Given the description of an element on the screen output the (x, y) to click on. 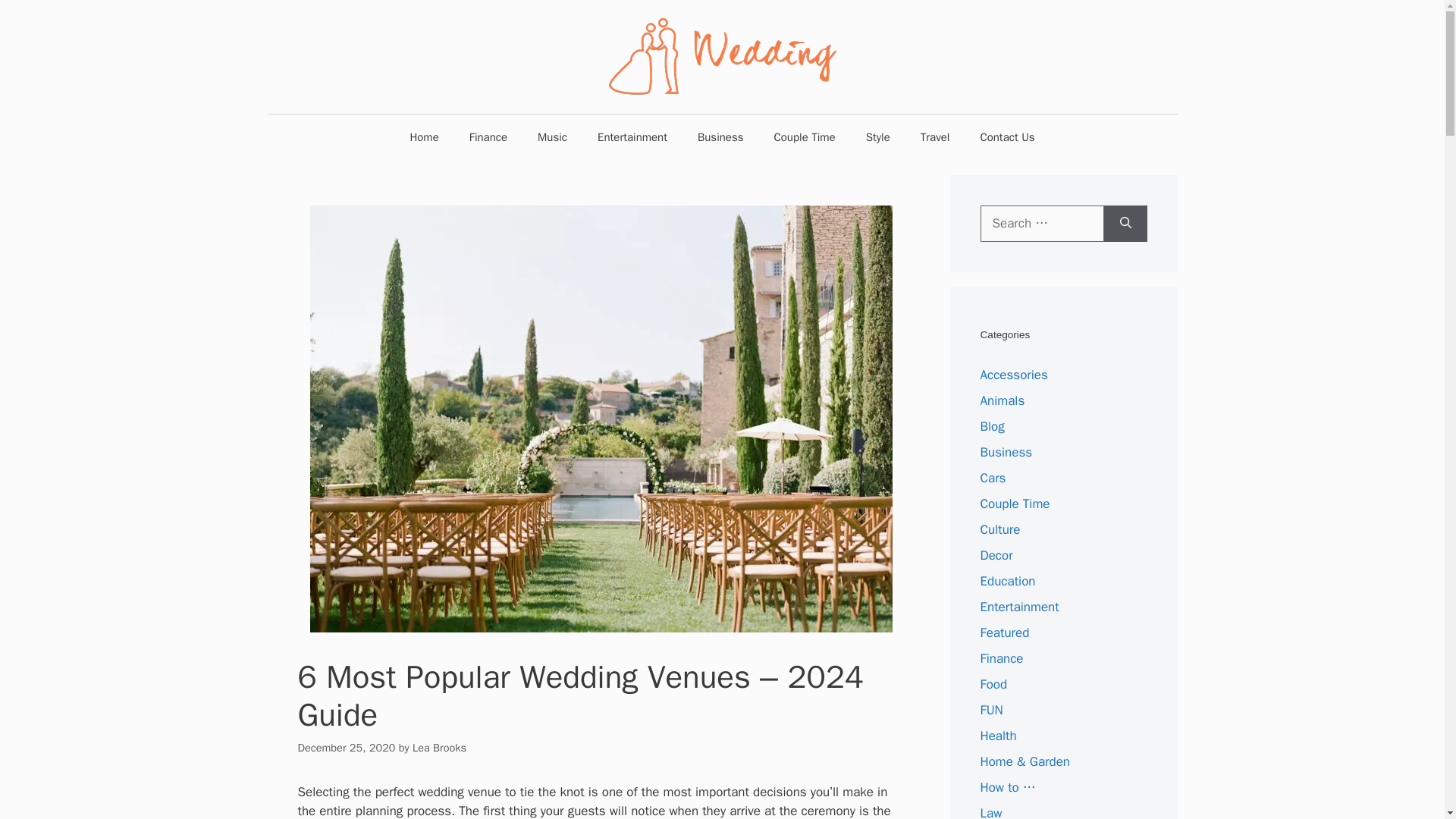
View all posts by Lea Brooks (438, 747)
Culture (999, 529)
Animals (1002, 400)
Contact Us (1006, 136)
Home (423, 136)
Couple Time (1014, 503)
Business (720, 136)
Cars (992, 478)
Education (1007, 580)
Music (552, 136)
